Given the description of an element on the screen output the (x, y) to click on. 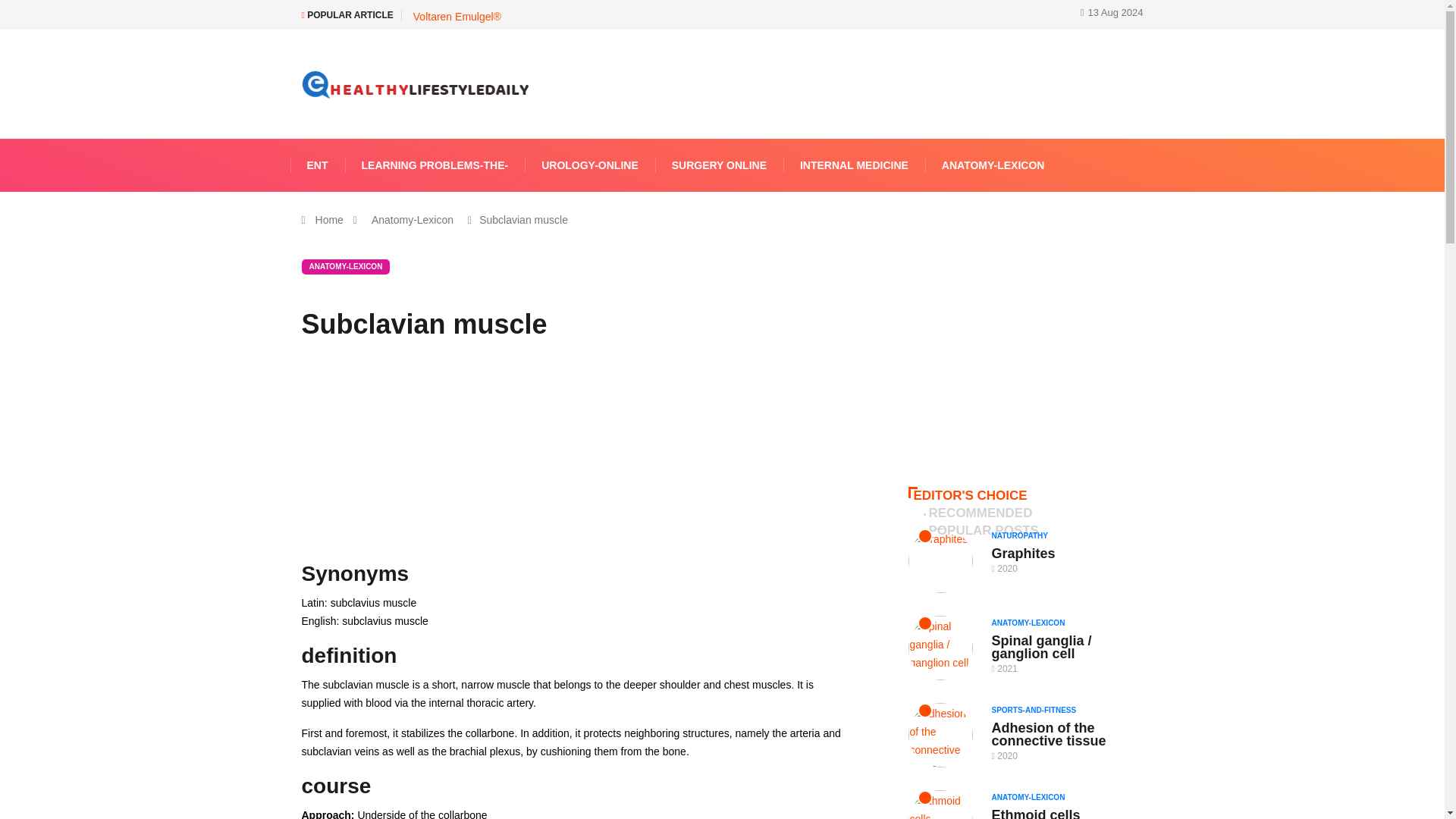
ANATOMY-LEXICON (992, 164)
Anatomy-Lexicon (412, 219)
Graphites (1023, 553)
INTERNAL MEDICINE (853, 164)
ENT (316, 164)
NATUROPATHY (1023, 535)
SURGERY ONLINE (719, 164)
UROLOGY-ONLINE (589, 164)
ANATOMY-LEXICON (345, 266)
Home (329, 219)
